Given the description of an element on the screen output the (x, y) to click on. 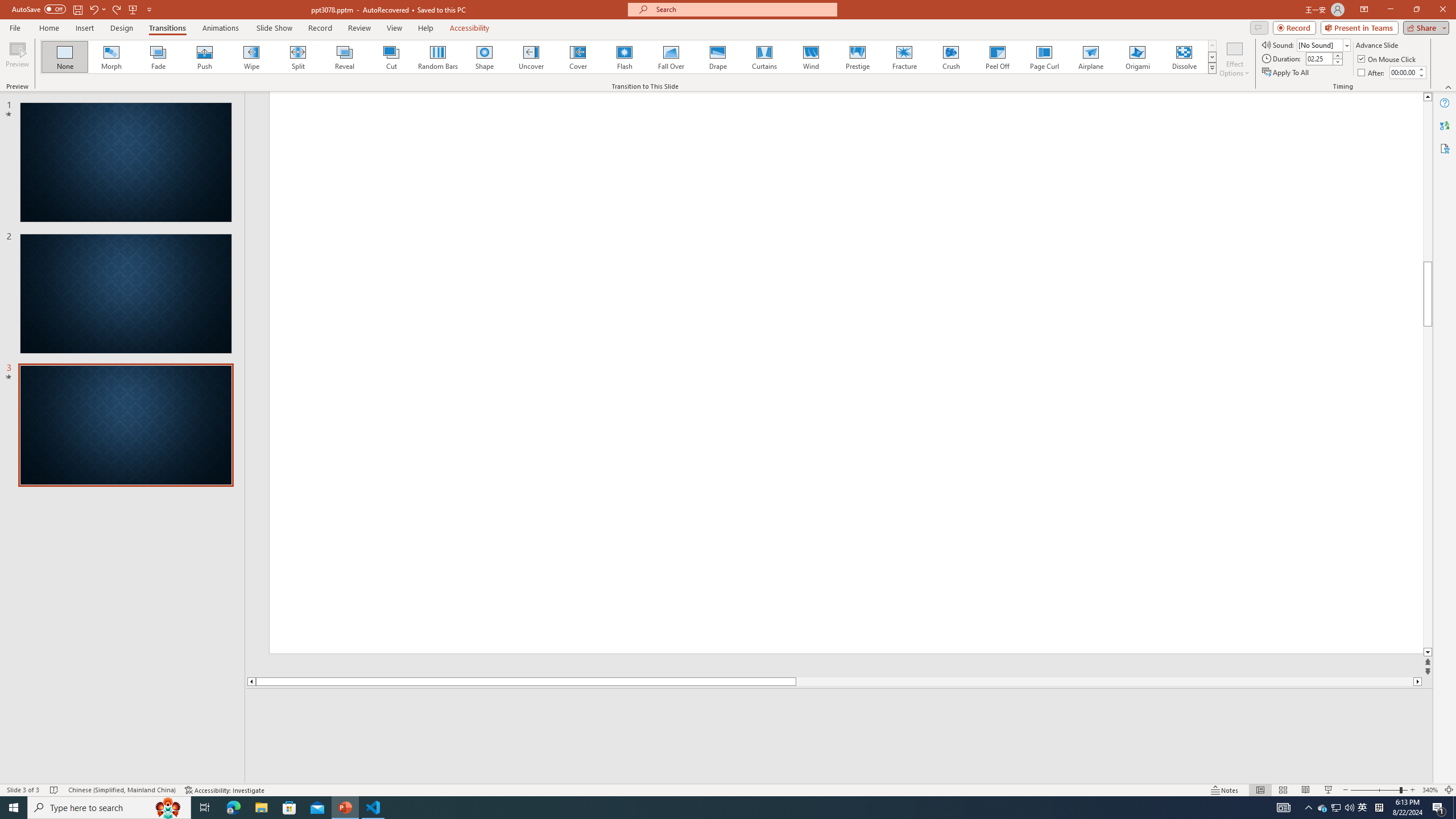
Flash (624, 56)
Uncover (531, 56)
Split (298, 56)
Drape (717, 56)
Fade (158, 56)
Sound (1324, 44)
